Given the description of an element on the screen output the (x, y) to click on. 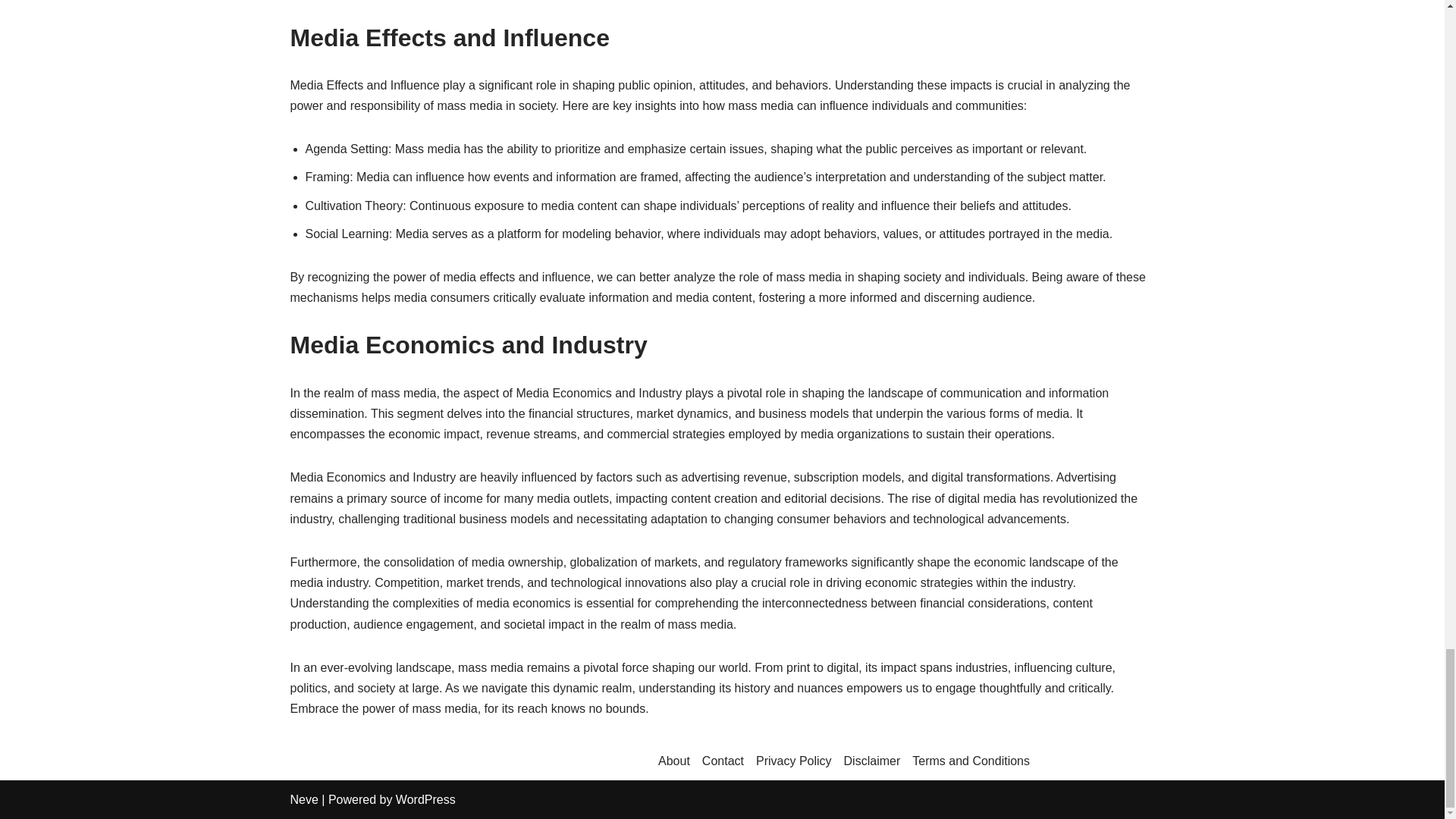
Contact (722, 761)
Neve (303, 799)
Privacy Policy (793, 761)
About (674, 761)
Disclaimer (872, 761)
WordPress (425, 799)
Terms and Conditions (970, 761)
